Given the description of an element on the screen output the (x, y) to click on. 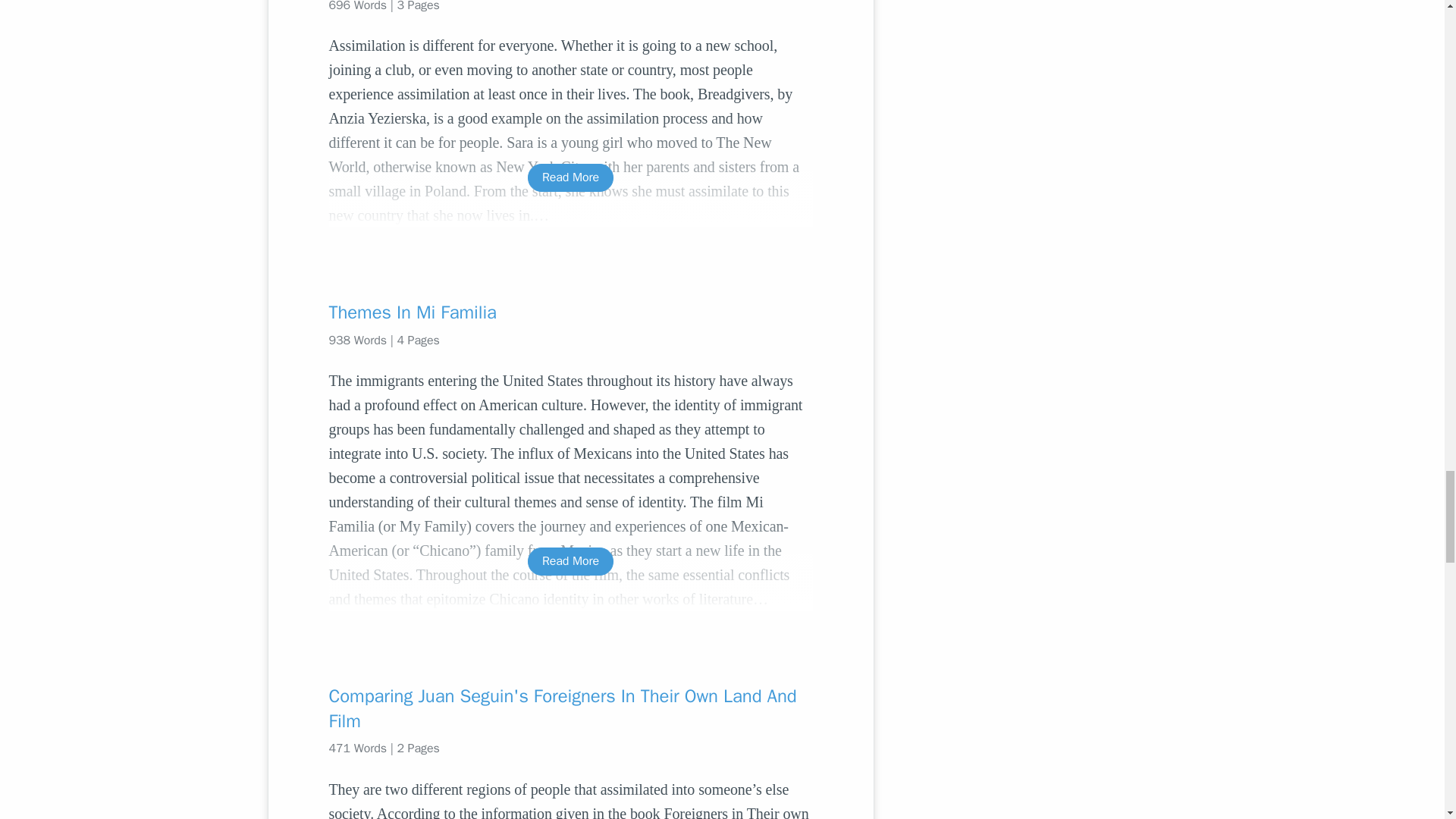
Themes In Mi Familia (570, 312)
Read More (569, 177)
Read More (569, 561)
